Given the description of an element on the screen output the (x, y) to click on. 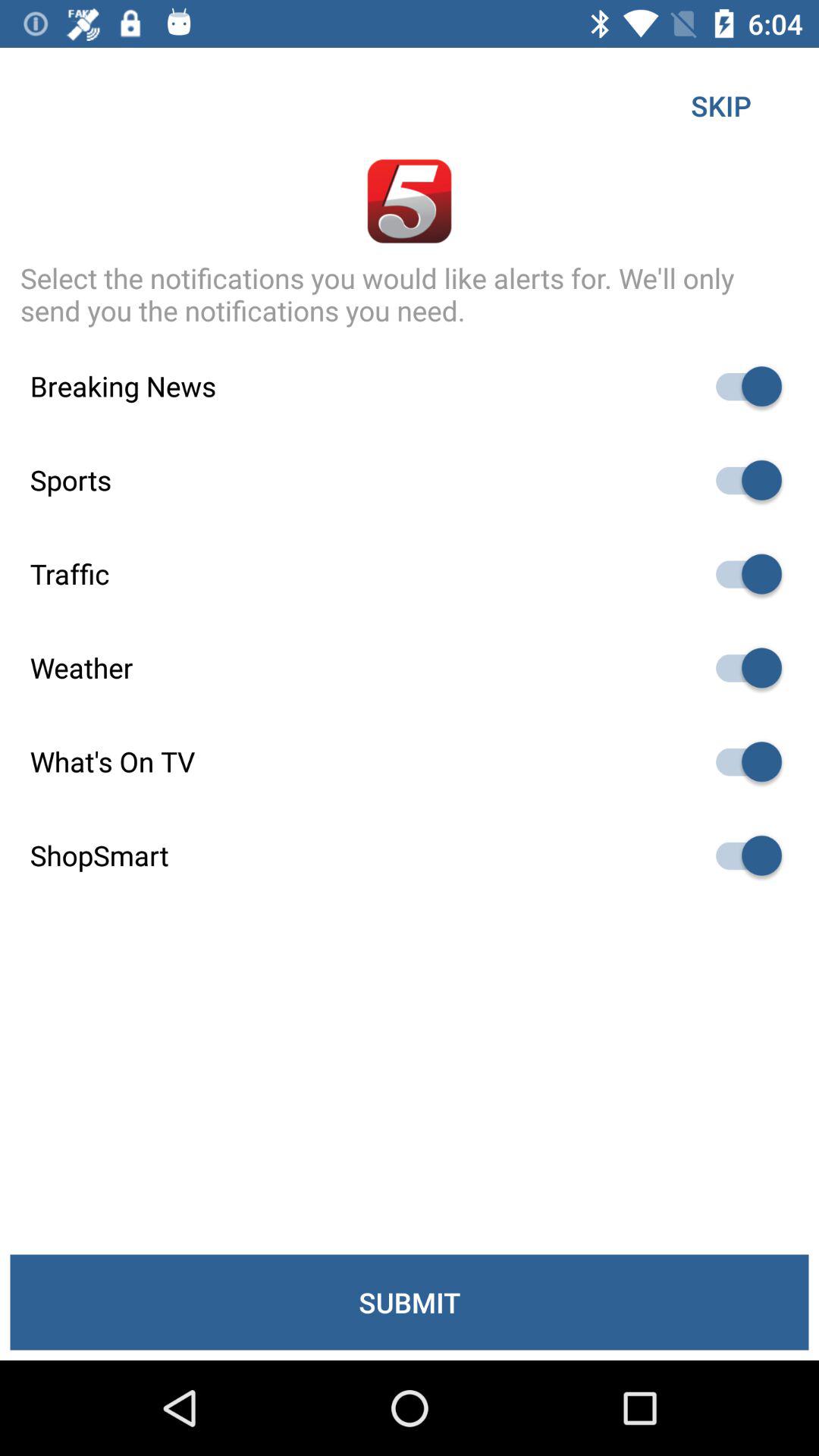
get traffic notifications (741, 574)
